Given the description of an element on the screen output the (x, y) to click on. 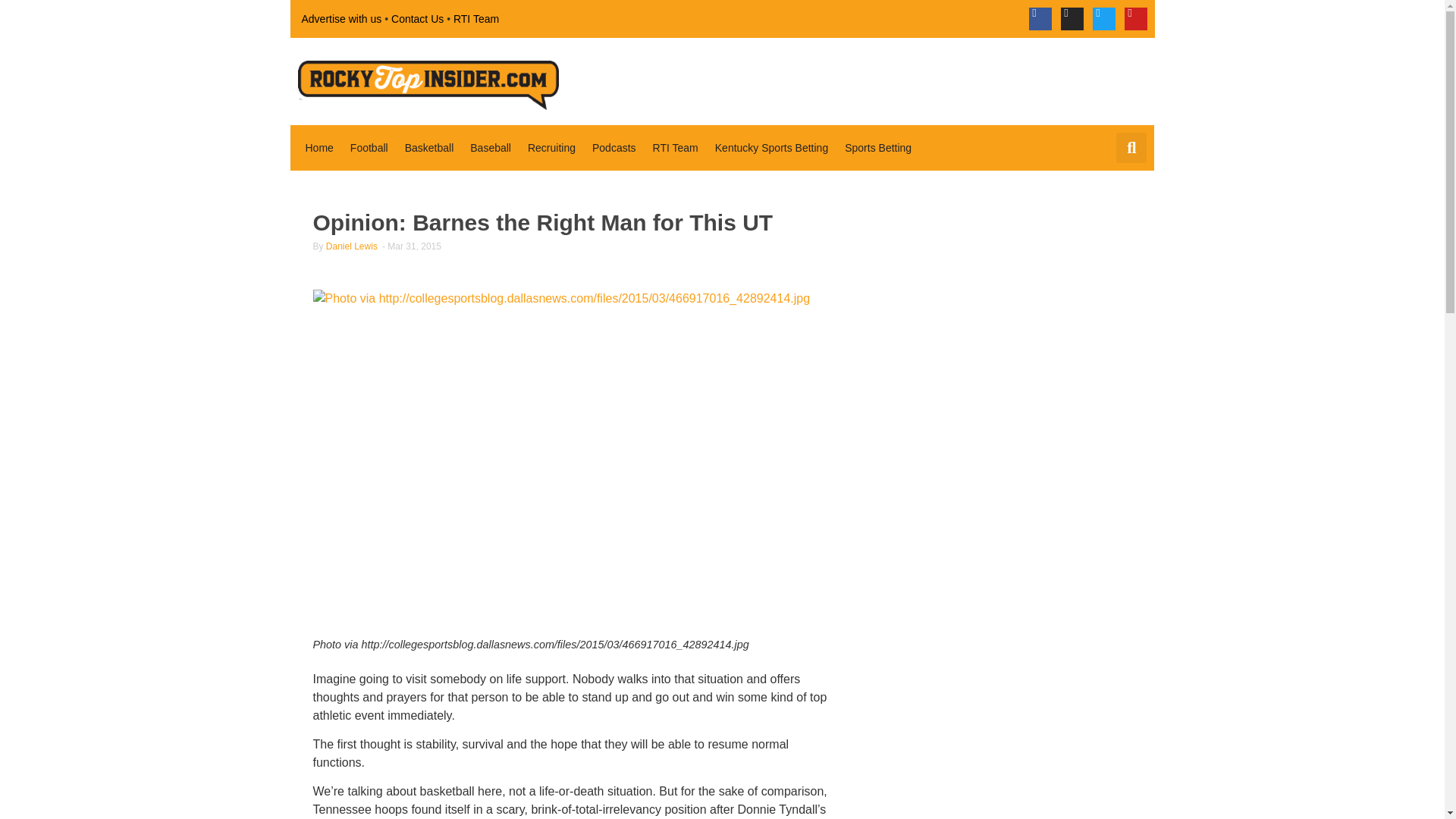
Podcasts (614, 147)
Basketball (429, 147)
Sports Betting (877, 147)
RTI Team (475, 18)
Football (369, 147)
Baseball (490, 147)
Recruiting (551, 147)
Kentucky Sports Betting (771, 147)
Contact Us (417, 18)
RTI Team (675, 147)
